Given the description of an element on the screen output the (x, y) to click on. 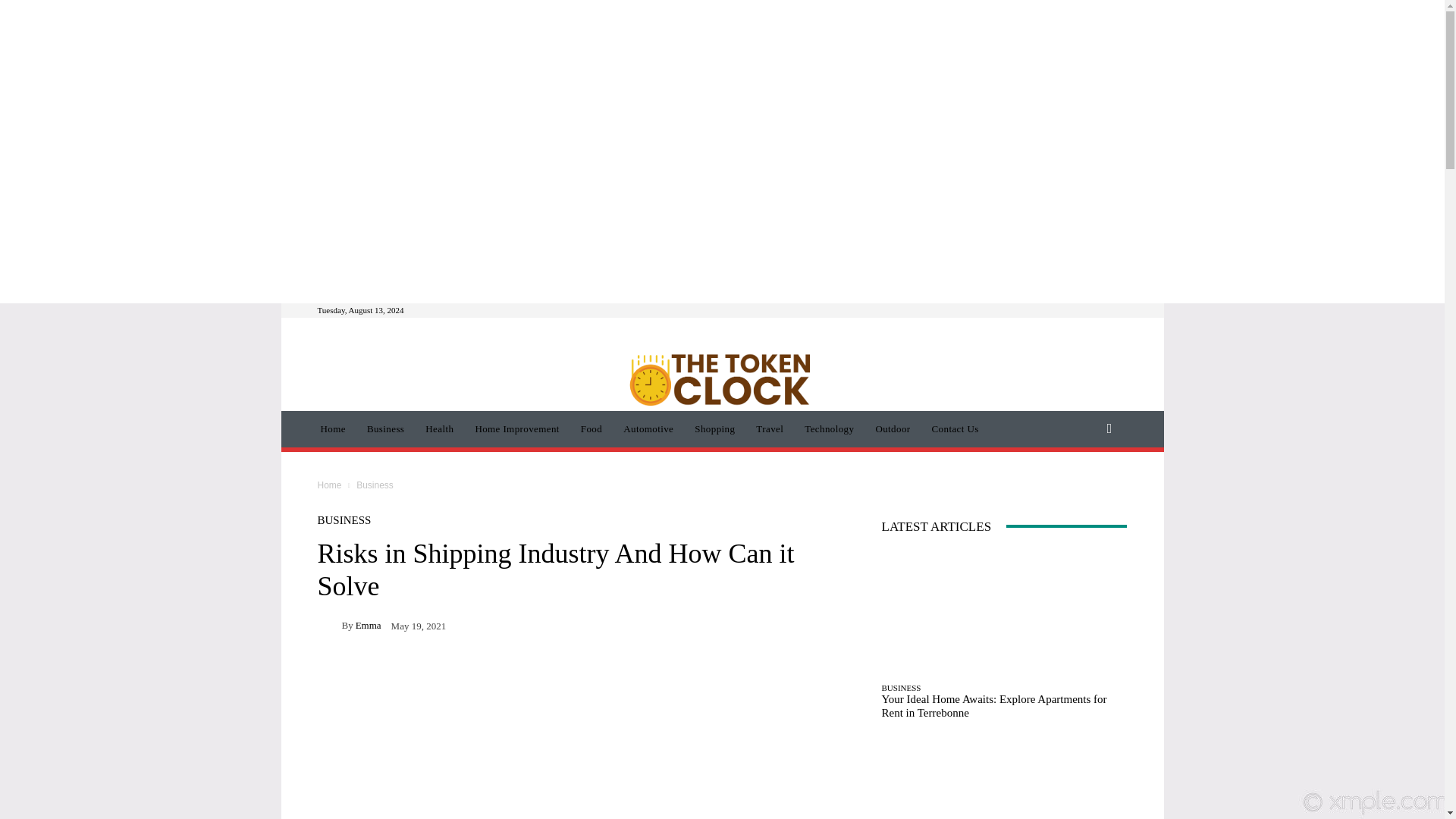
Business (385, 429)
Home Improvement (516, 429)
BUSINESS (344, 520)
Technology (828, 429)
Contact Us (955, 429)
Home (331, 429)
Health (439, 429)
Food (591, 429)
Business (374, 484)
